Given the description of an element on the screen output the (x, y) to click on. 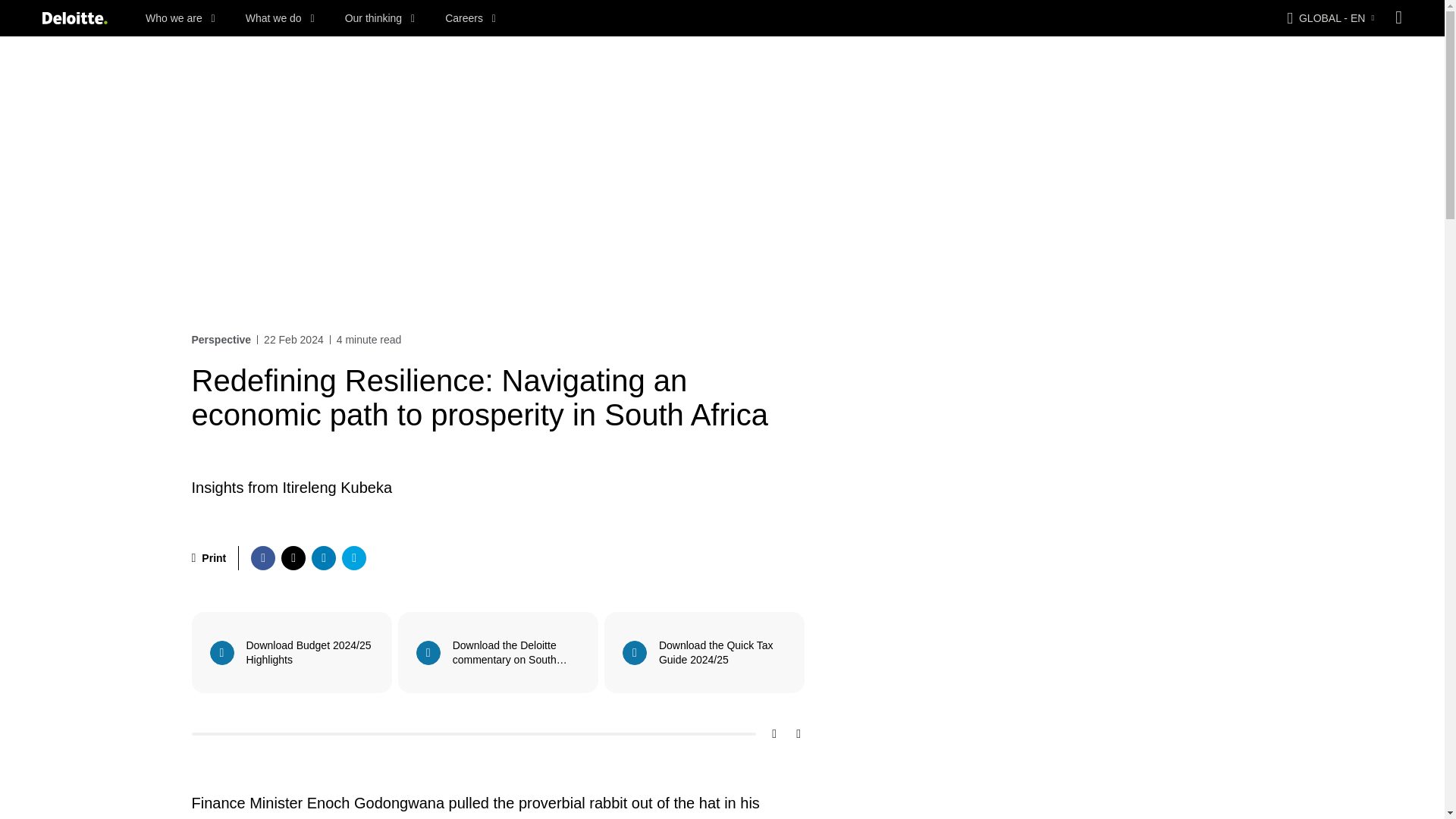
Who we are (180, 18)
Our thinking (379, 18)
Deloitte (74, 18)
Careers (470, 18)
share via facebook (262, 558)
share via linkedin (323, 558)
share via twitter (293, 558)
Print (207, 558)
What we do (280, 18)
share via... (354, 558)
